Given the description of an element on the screen output the (x, y) to click on. 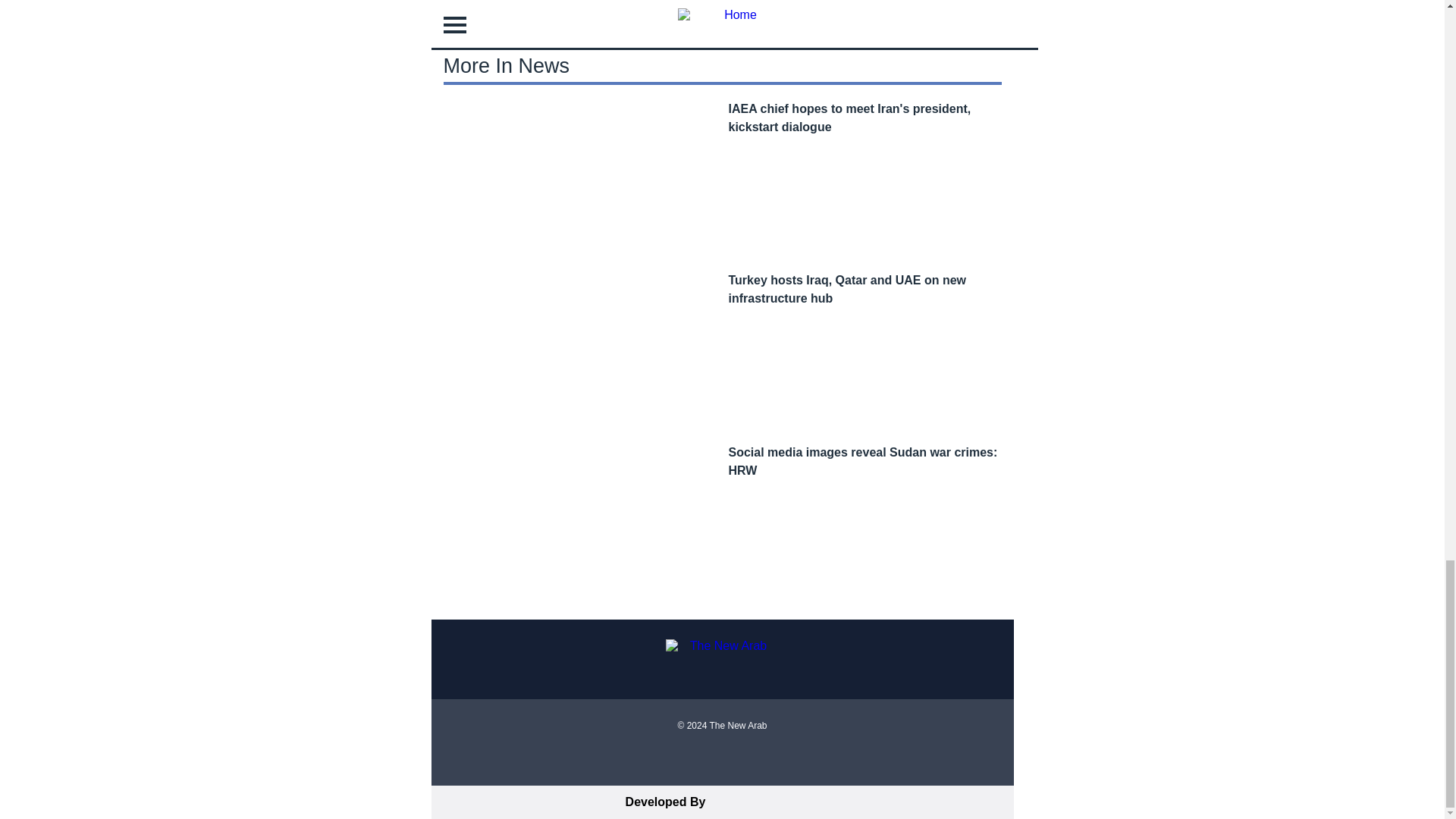
iHorizons logo (765, 801)
Facebook (695, 758)
Turkey hosts Iraq, Qatar and UAE on new infrastructure hub (847, 288)
Twitter (722, 758)
Social media images reveal Sudan war crimes: HRW (862, 460)
Twitter (722, 758)
Turkey hosts Iraq, Qatar and UAE on new infrastructure hub (847, 288)
Social media images reveal Sudan war crimes: HRW (862, 460)
Youtube (749, 758)
